Given the description of an element on the screen output the (x, y) to click on. 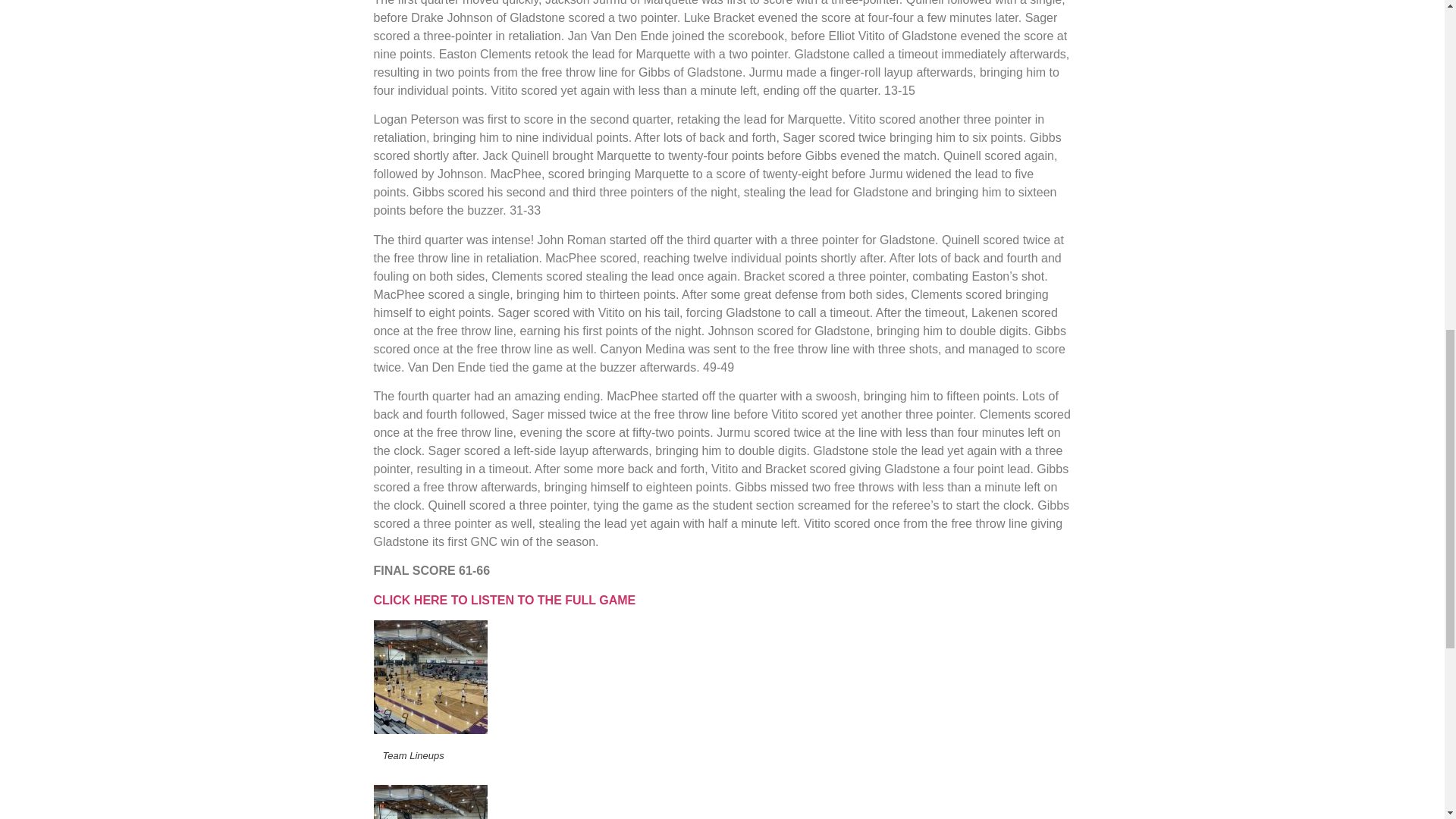
CLICK HERE TO LISTEN TO THE FULL GAME (503, 599)
